Given the description of an element on the screen output the (x, y) to click on. 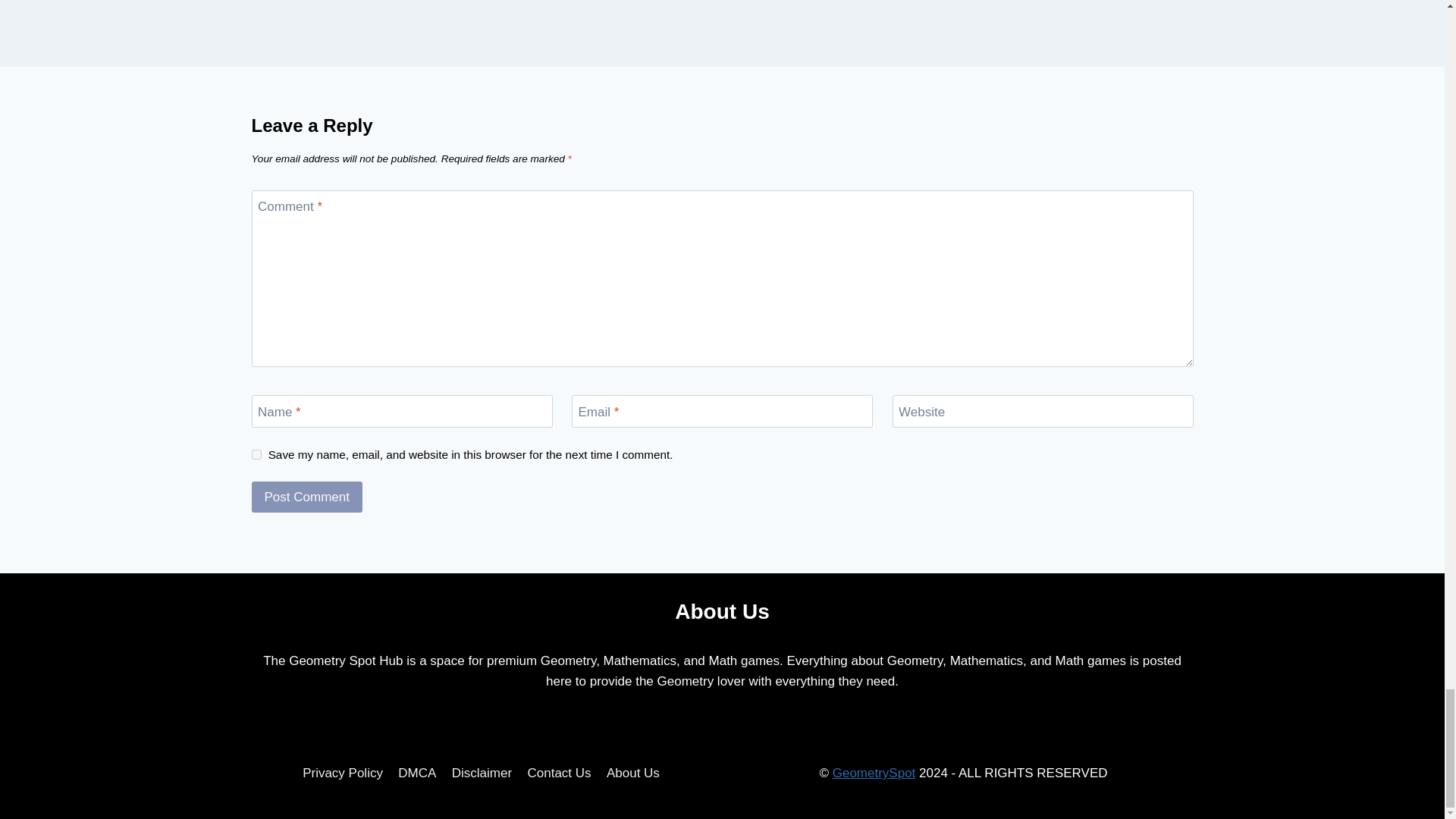
Post Comment (306, 496)
yes (256, 454)
